Given the description of an element on the screen output the (x, y) to click on. 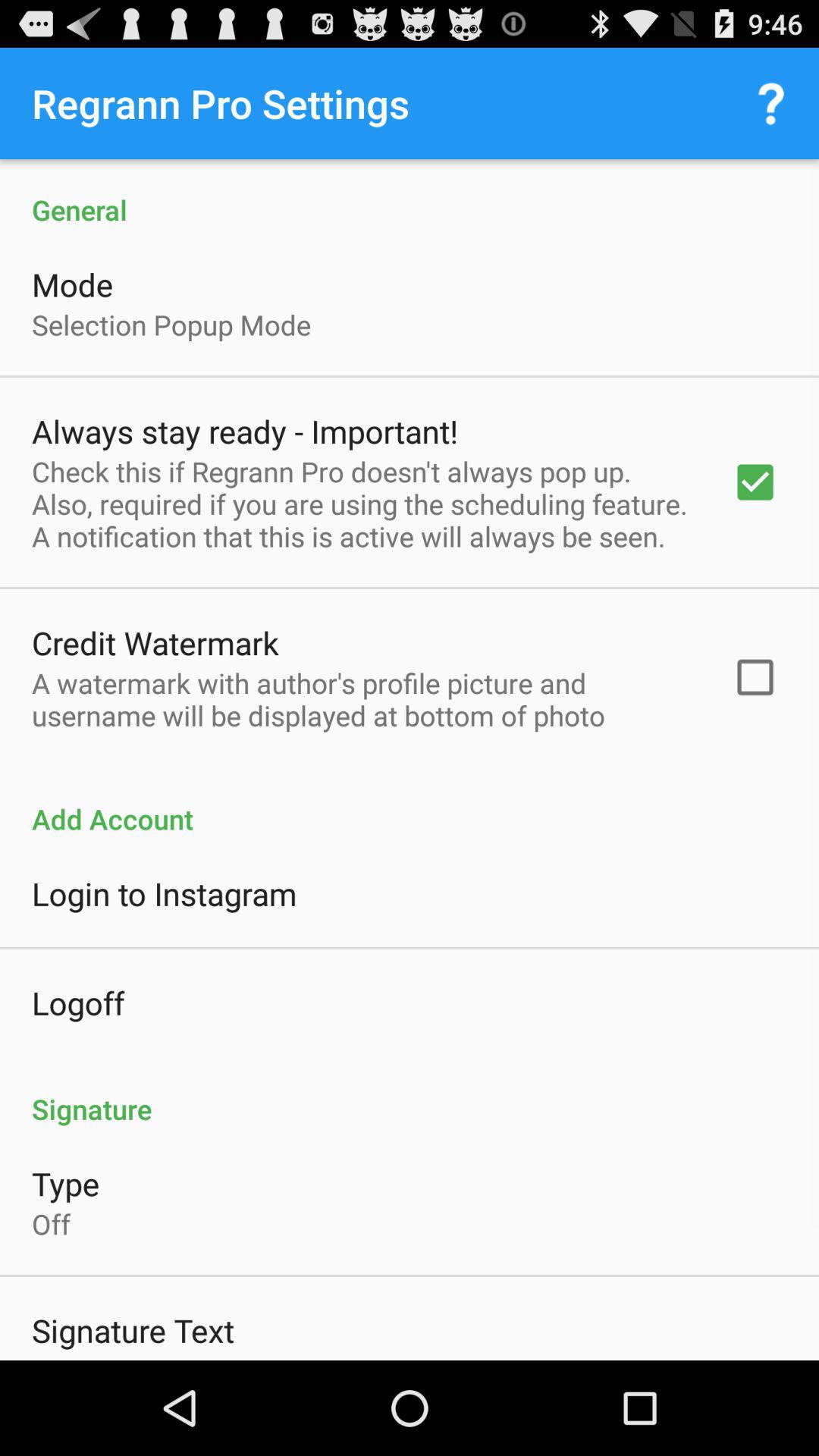
flip until the a watermark with item (361, 699)
